Given the description of an element on the screen output the (x, y) to click on. 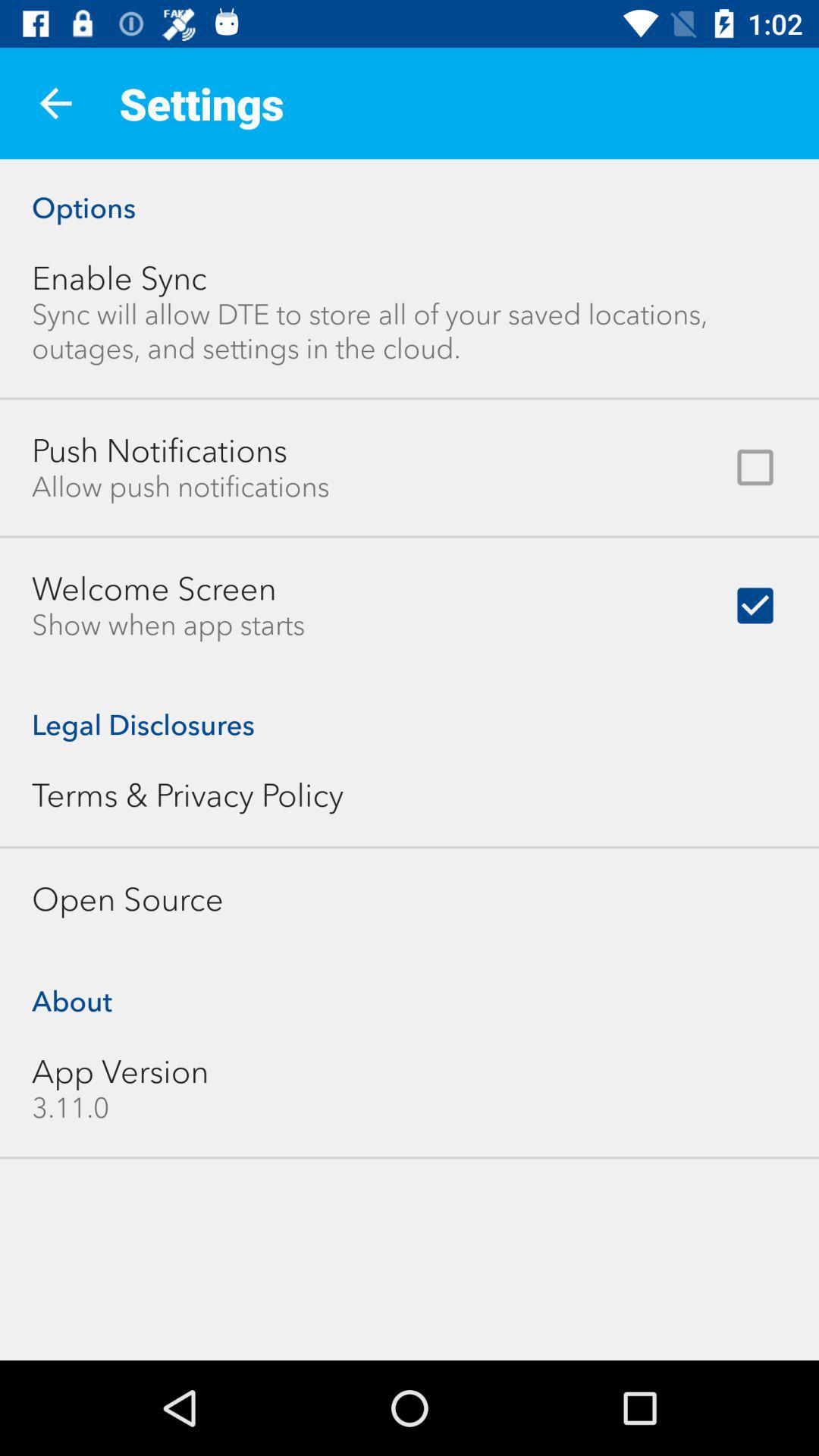
flip to the options (409, 192)
